Given the description of an element on the screen output the (x, y) to click on. 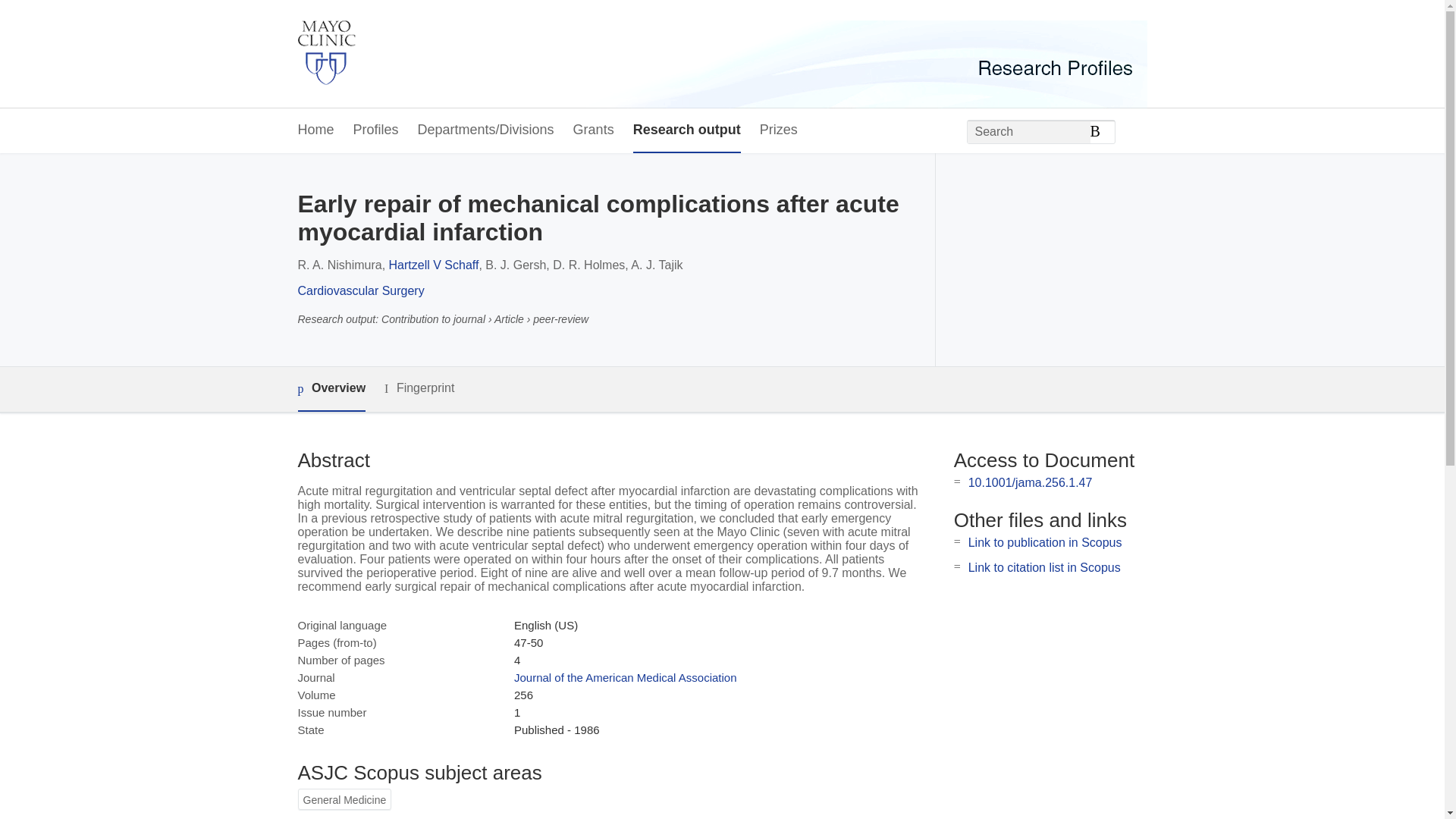
Profiles (375, 130)
Journal of the American Medical Association (624, 676)
Link to citation list in Scopus (1044, 567)
Research output (687, 130)
Overview (331, 388)
Link to publication in Scopus (1045, 542)
Grants (593, 130)
Hartzell V Schaff (433, 264)
Fingerprint (419, 388)
